Given the description of an element on the screen output the (x, y) to click on. 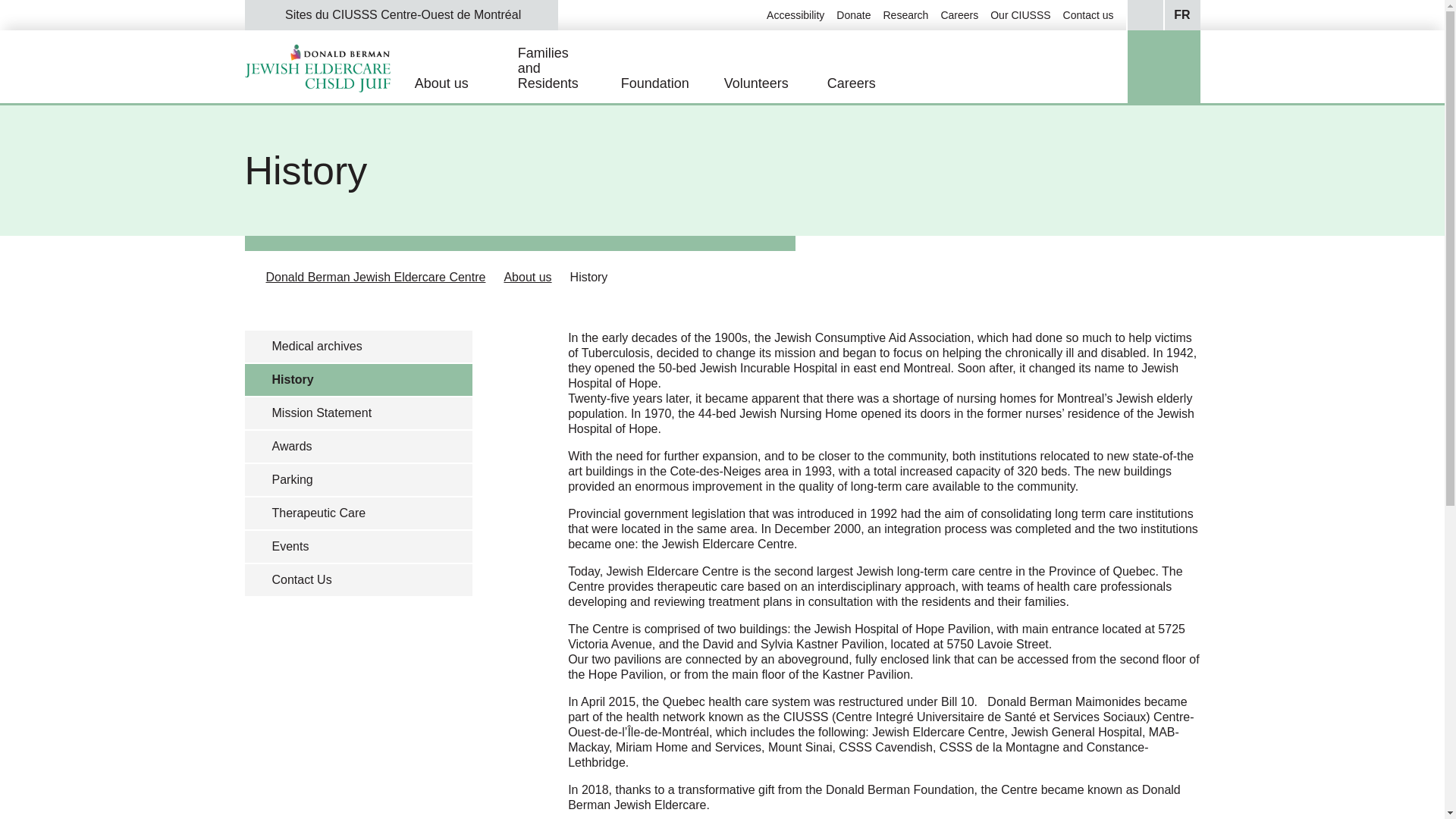
FR (1181, 15)
About us (466, 83)
About us (527, 277)
Donald Berman Jewish Eldercare Centre (374, 277)
History (589, 277)
